Given the description of an element on the screen output the (x, y) to click on. 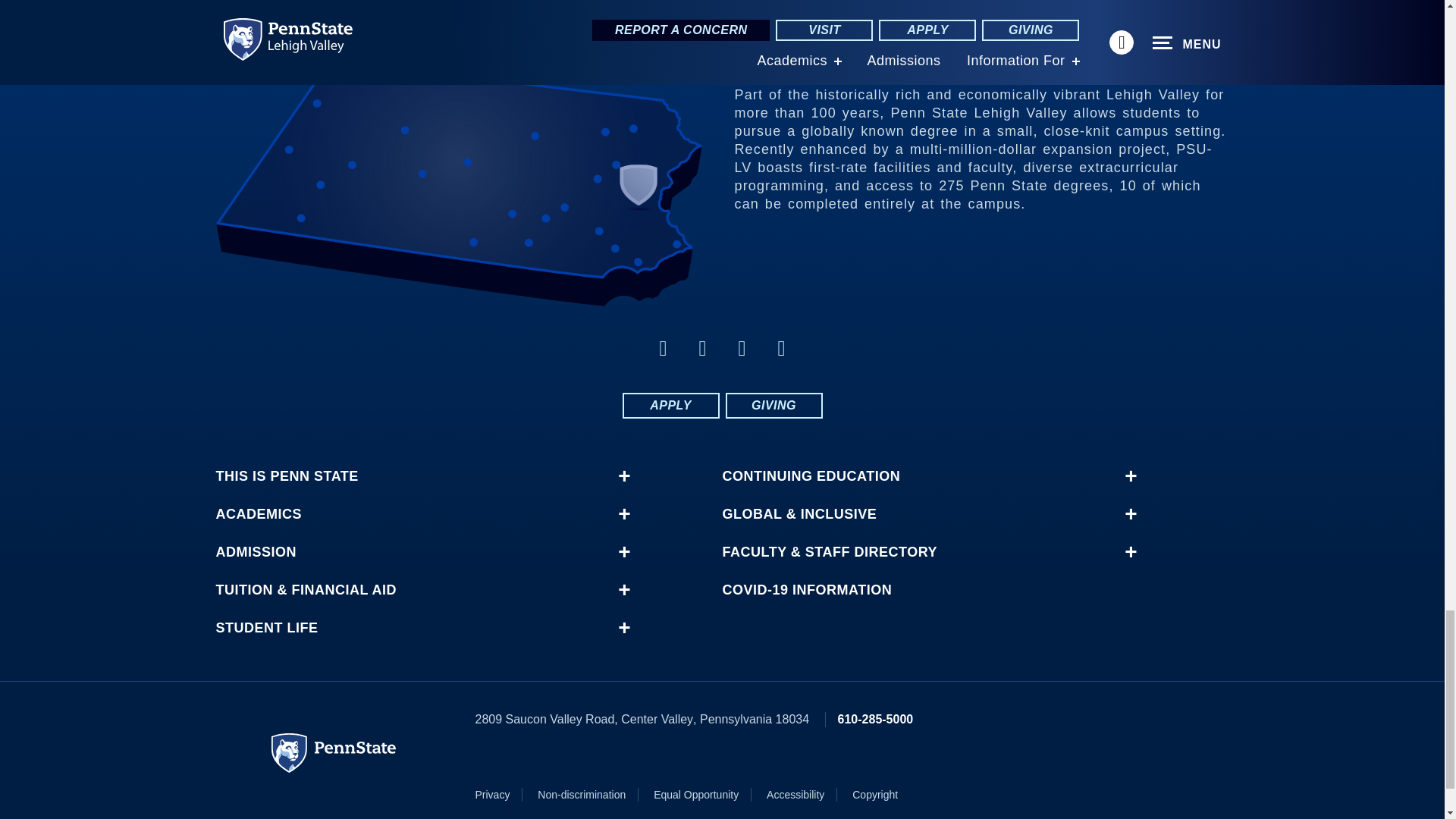
linkedin (741, 348)
youtube (781, 348)
facebook (662, 348)
instagram (702, 348)
Penn State University (333, 753)
